Given the description of an element on the screen output the (x, y) to click on. 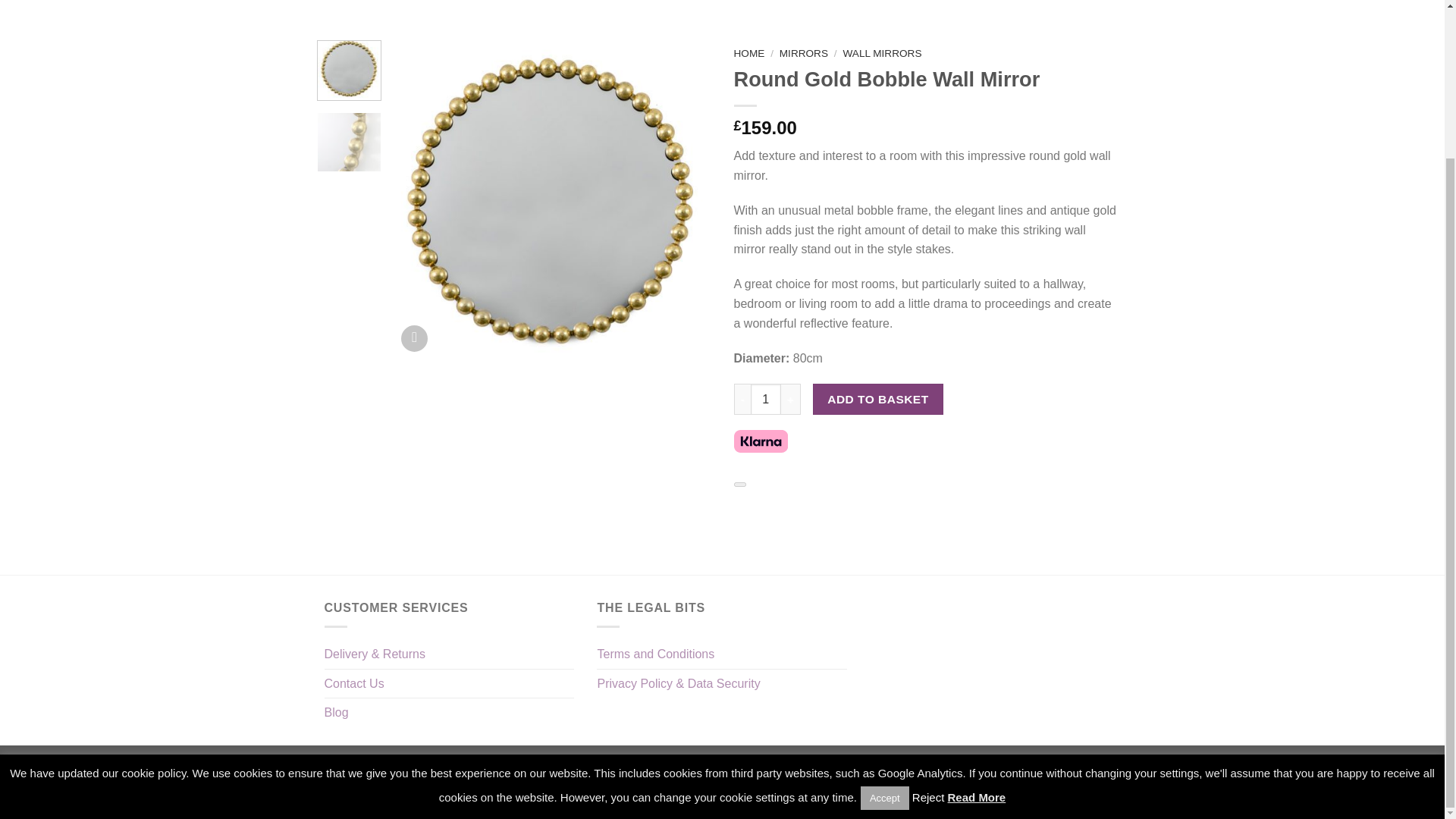
MIRRORS (393, 4)
NEW (337, 2)
1 (765, 399)
HOME ACCENTS (486, 4)
